Given the description of an element on the screen output the (x, y) to click on. 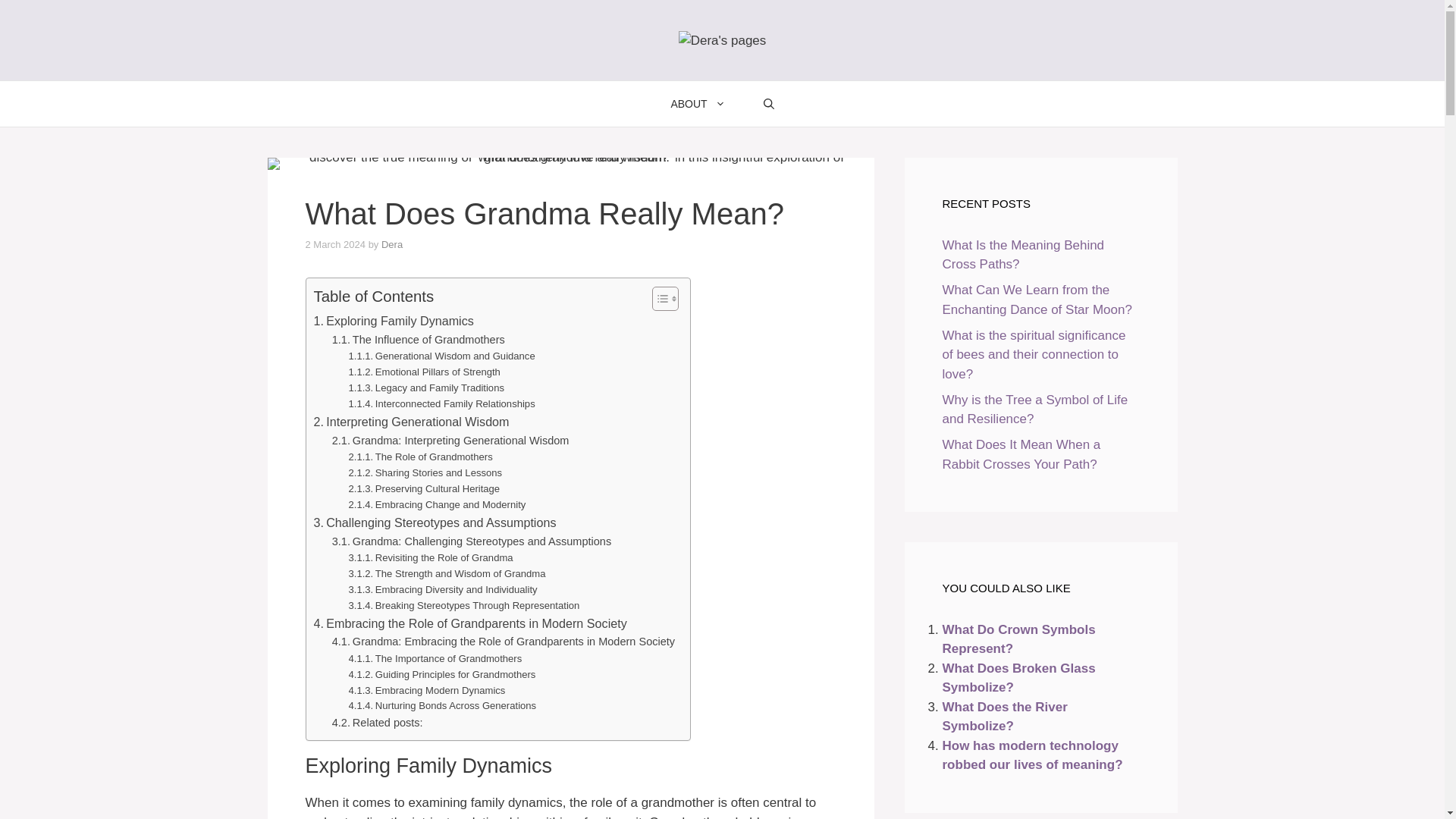
Interconnected Family Relationships (442, 404)
Legacy and Family Traditions (426, 388)
Interpreting Generational Wisdom (411, 422)
Grandma: Interpreting Generational Wisdom (450, 440)
Related posts: (377, 723)
Emotional Pillars of Strength (424, 372)
Exploring Family Dynamics (394, 321)
The Role of Grandmothers (421, 457)
Legacy and Family Traditions (426, 388)
ABOUT (697, 103)
